Given the description of an element on the screen output the (x, y) to click on. 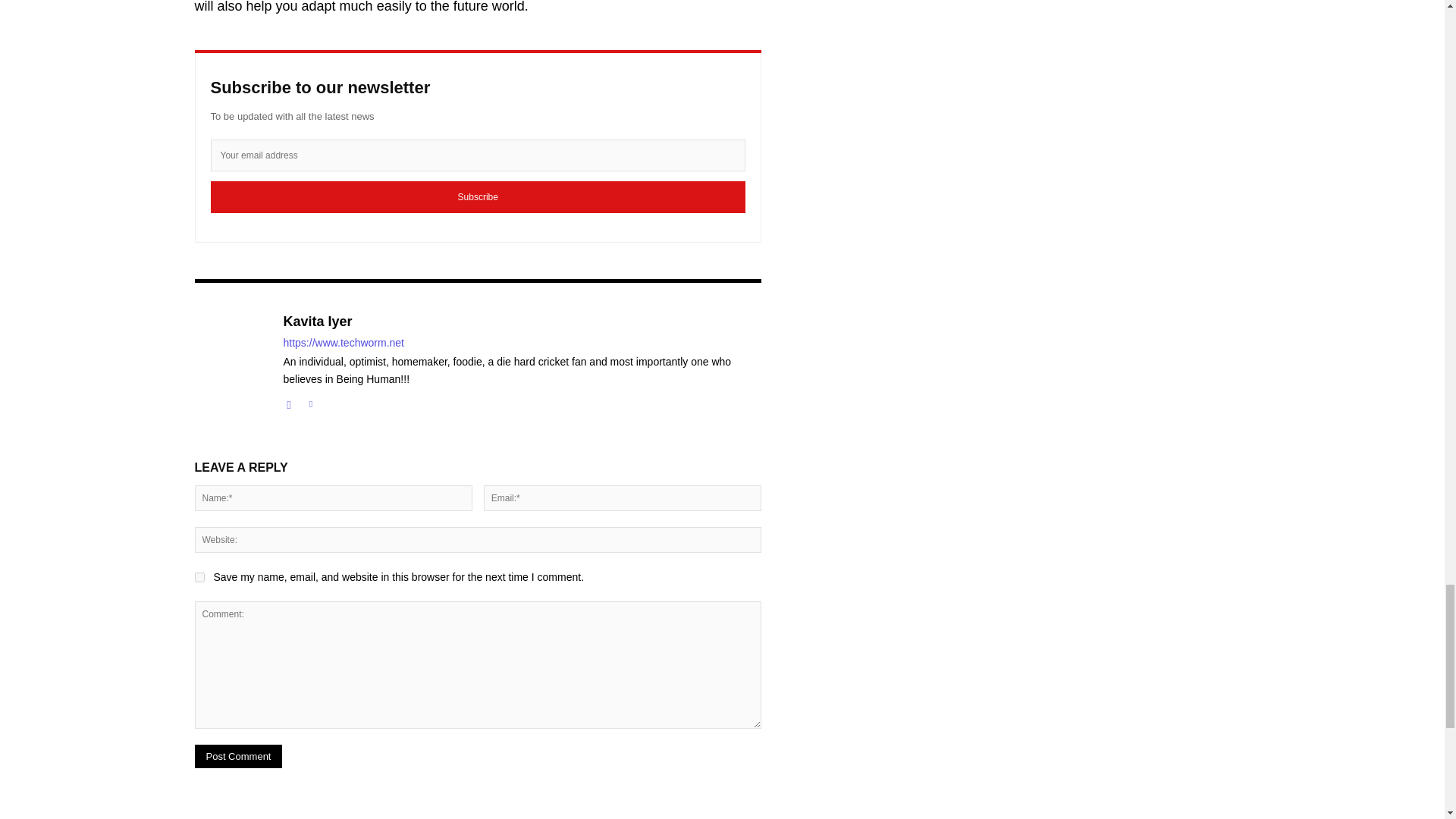
Post Comment (237, 756)
Kavita Iyer (522, 321)
Post Comment (237, 756)
Subscribe (478, 196)
yes (198, 577)
Facebook (289, 401)
Twitter (309, 401)
